Given the description of an element on the screen output the (x, y) to click on. 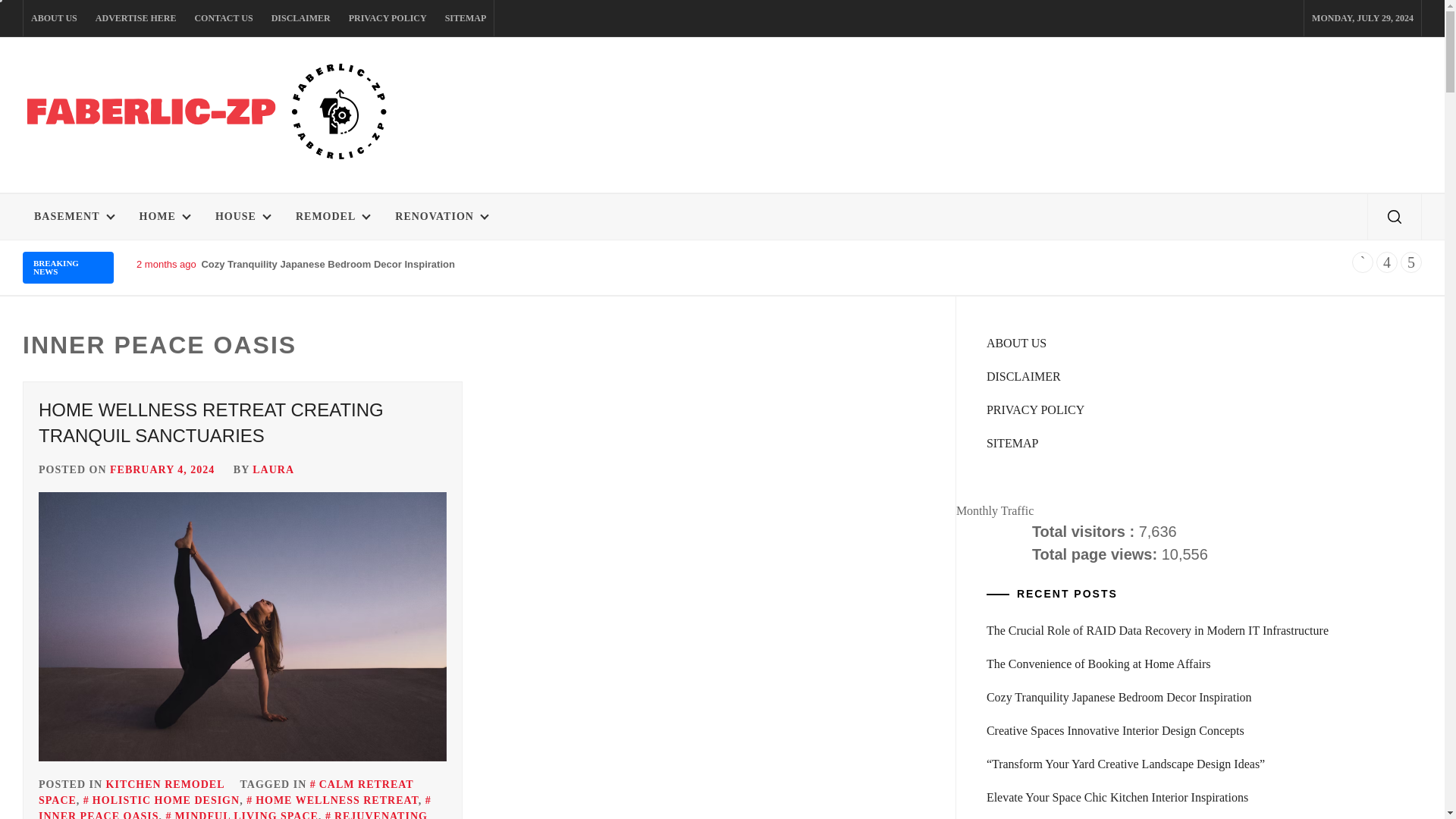
Search (797, 409)
REMODEL (331, 216)
ABOUT US (53, 18)
DISCLAIMER (300, 18)
FABERLIC-ZP (136, 191)
BASEMENT (74, 216)
Home Wellness Retreat Creating Tranquil Sanctuaries (242, 627)
HOUSE (242, 216)
SITEMAP (466, 18)
CONTACT US (223, 18)
PRIVACY POLICY (386, 18)
RENOVATION (441, 216)
HOME (164, 216)
ADVERTISE HERE (135, 18)
